Given the description of an element on the screen output the (x, y) to click on. 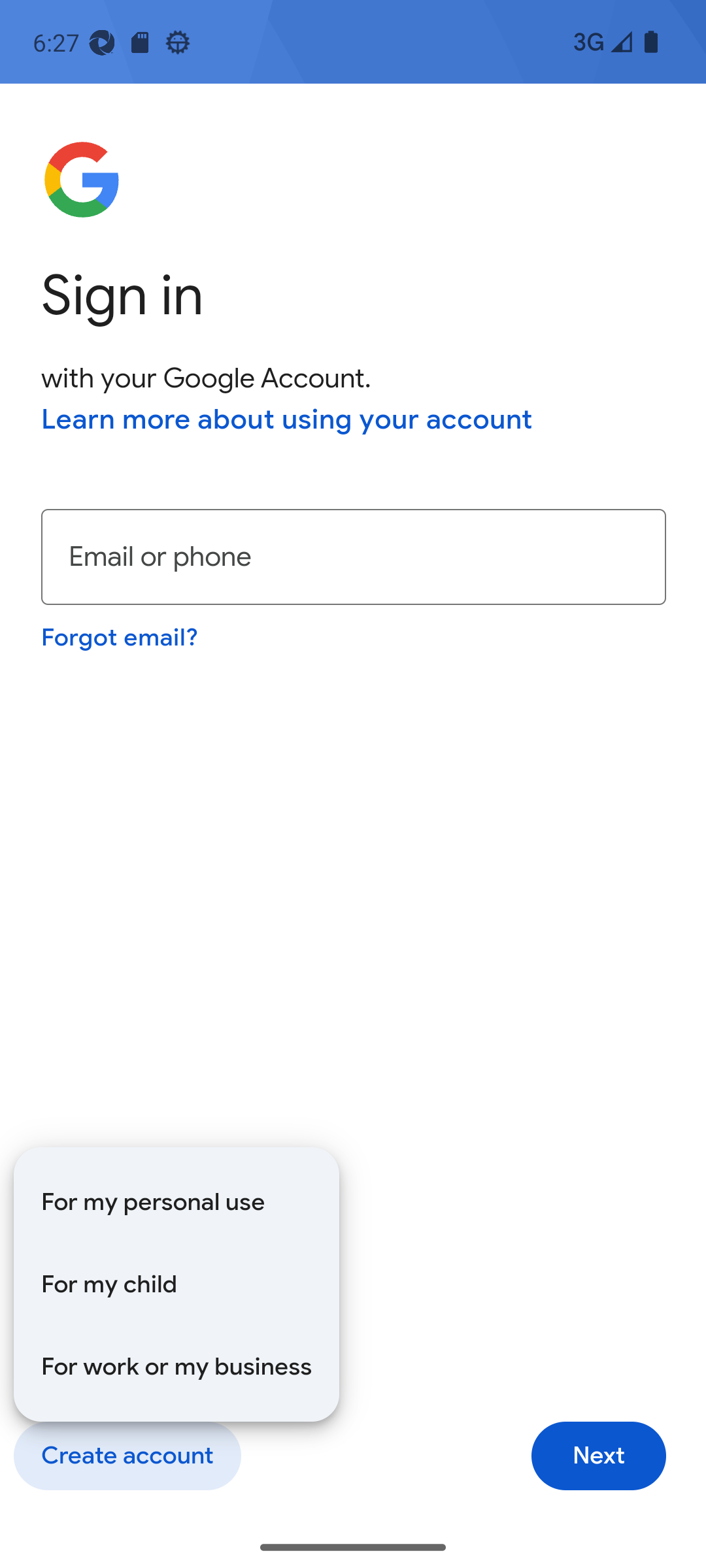
Learn more about using your account (286, 419)
Forgot email? (119, 635)
Create account (127, 1455)
Next (598, 1455)
